Given the description of an element on the screen output the (x, y) to click on. 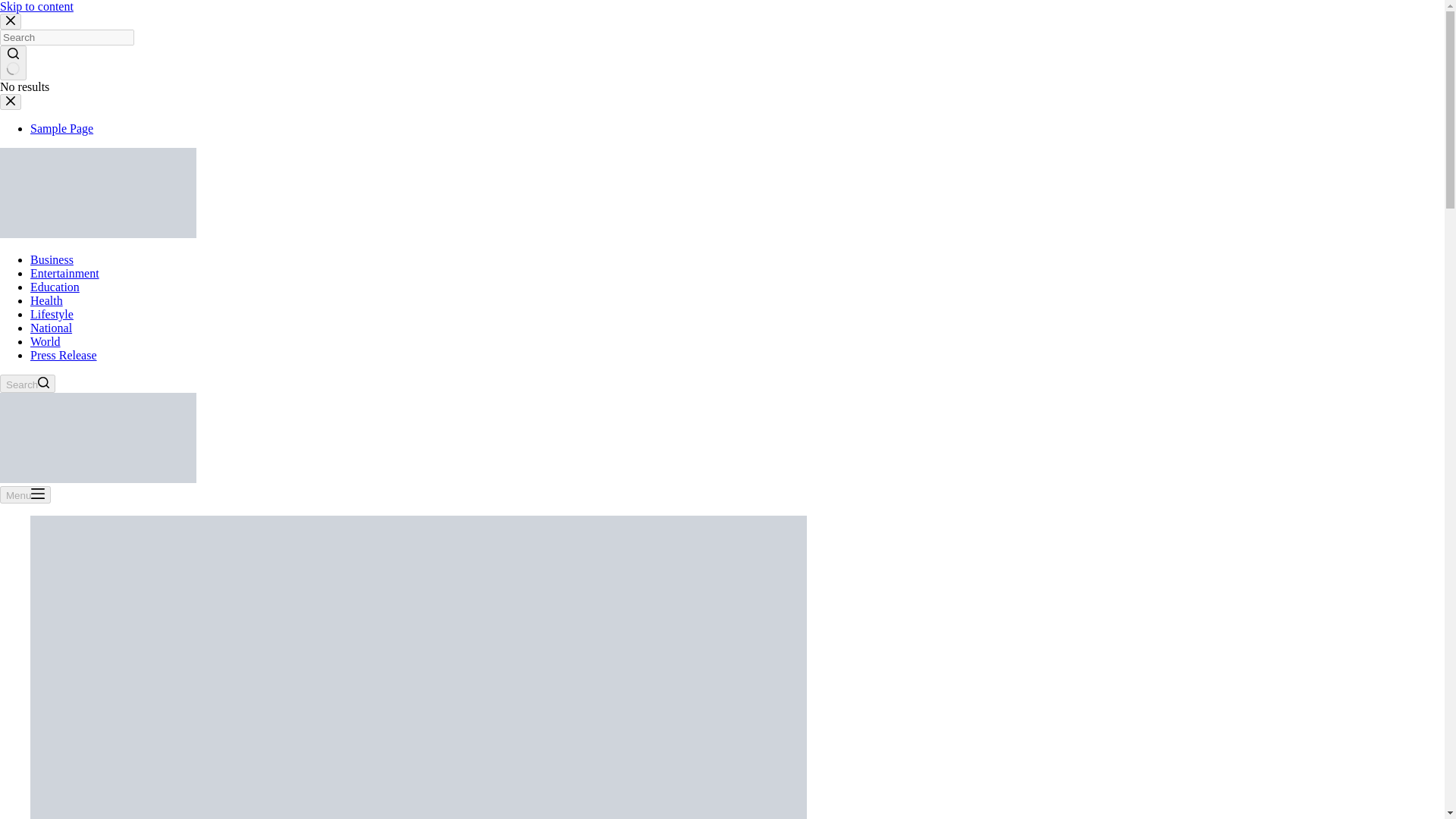
Search for... (66, 37)
Business (52, 259)
Education (55, 286)
Search (27, 383)
Entertainment (64, 273)
Sample Page (61, 128)
Health (46, 300)
Skip to content (37, 6)
National (50, 327)
Press Release (63, 354)
